Given the description of an element on the screen output the (x, y) to click on. 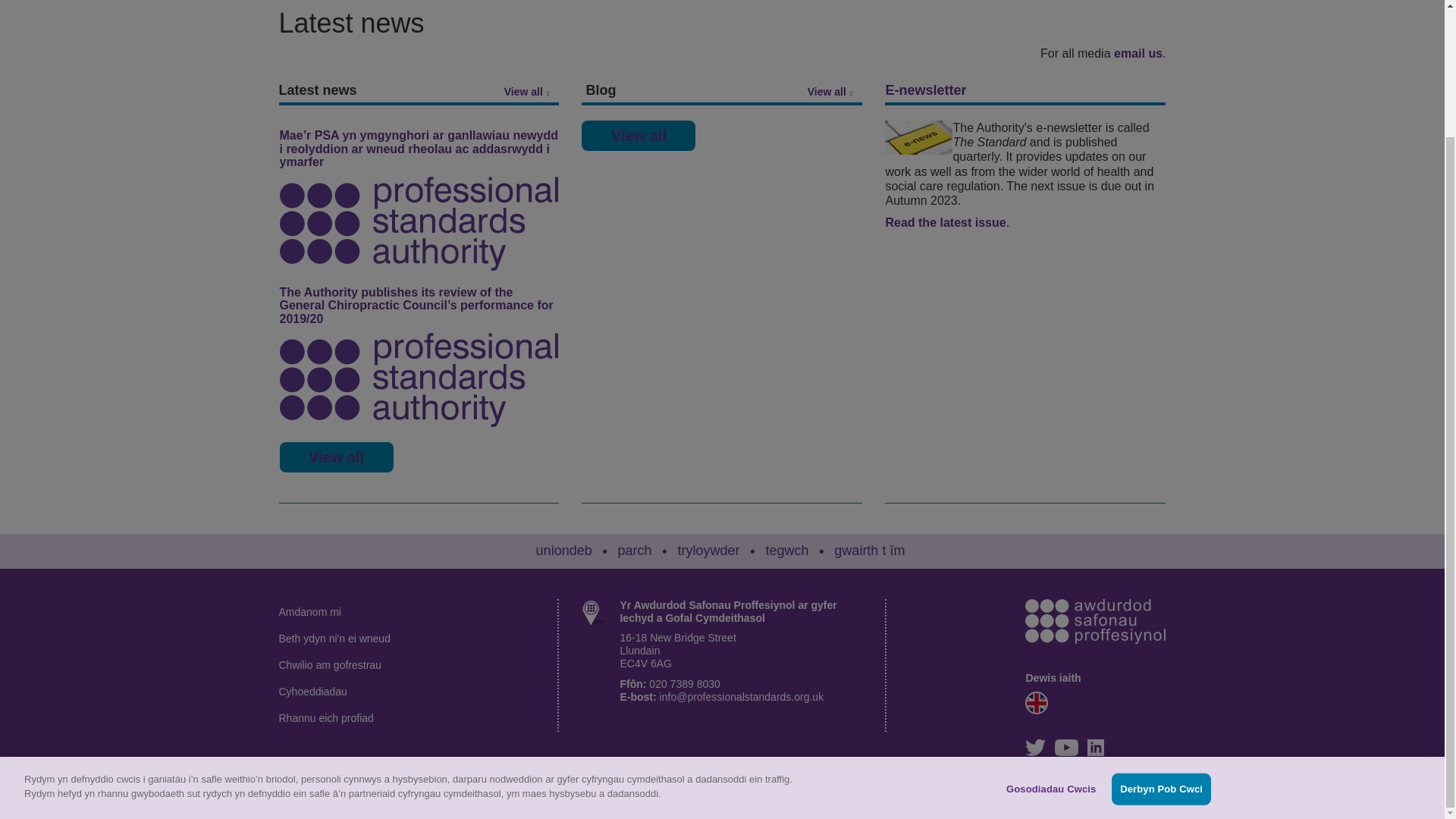
View all (531, 92)
E-newsletter (925, 89)
View all (637, 135)
Read the latest issue (945, 222)
email us (1137, 52)
View all (834, 92)
View all (336, 457)
e-News (918, 137)
